Given the description of an element on the screen output the (x, y) to click on. 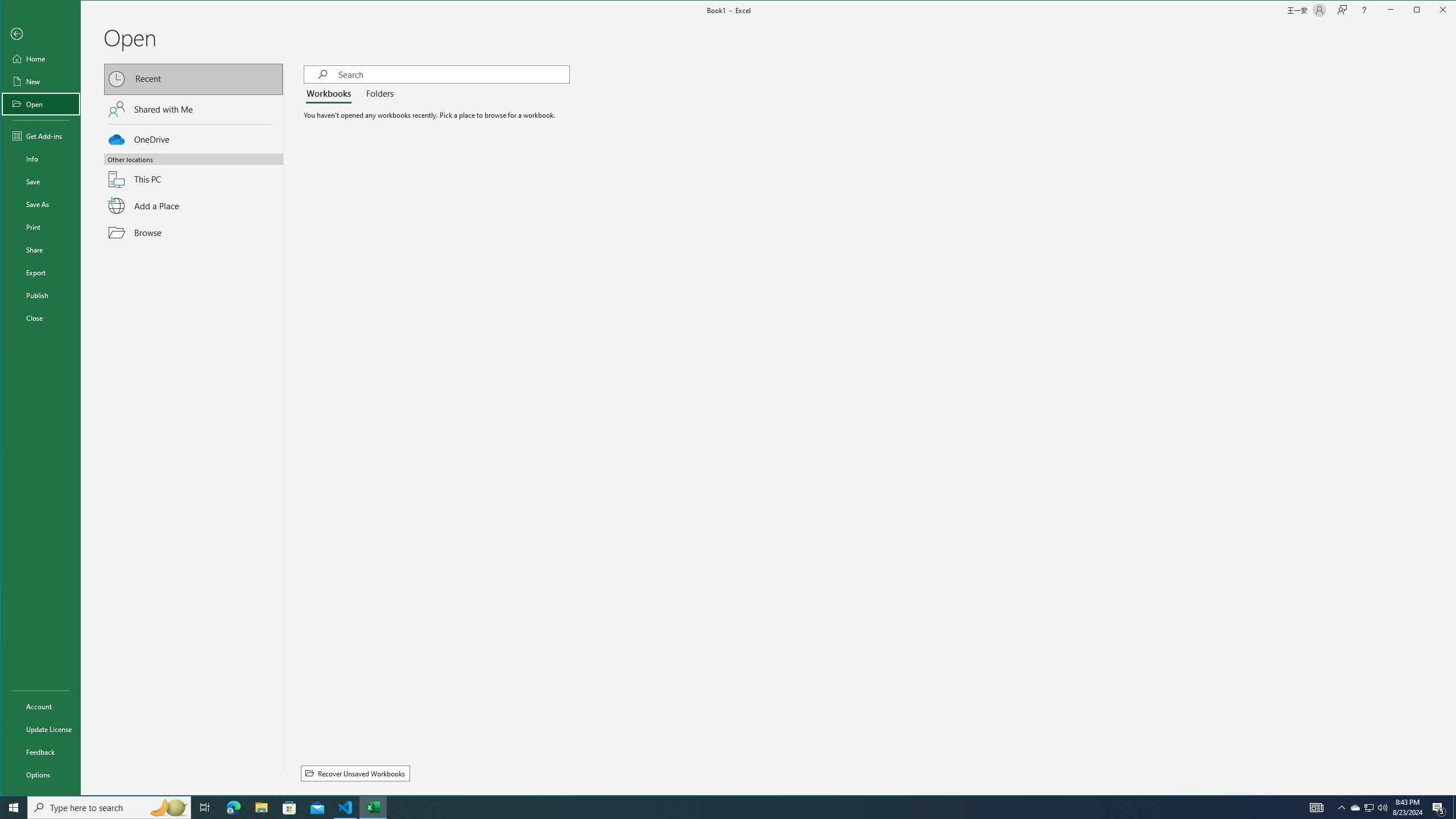
Recover Unsaved Workbooks (355, 773)
Microsoft Edge (233, 807)
Back (40, 34)
Update License (40, 728)
Export (40, 272)
Browse (193, 232)
Show desktop (1454, 807)
Account (40, 706)
Excel - 1 running window (373, 807)
Task View (204, 807)
User Promoted Notification Area (1368, 807)
